Given the description of an element on the screen output the (x, y) to click on. 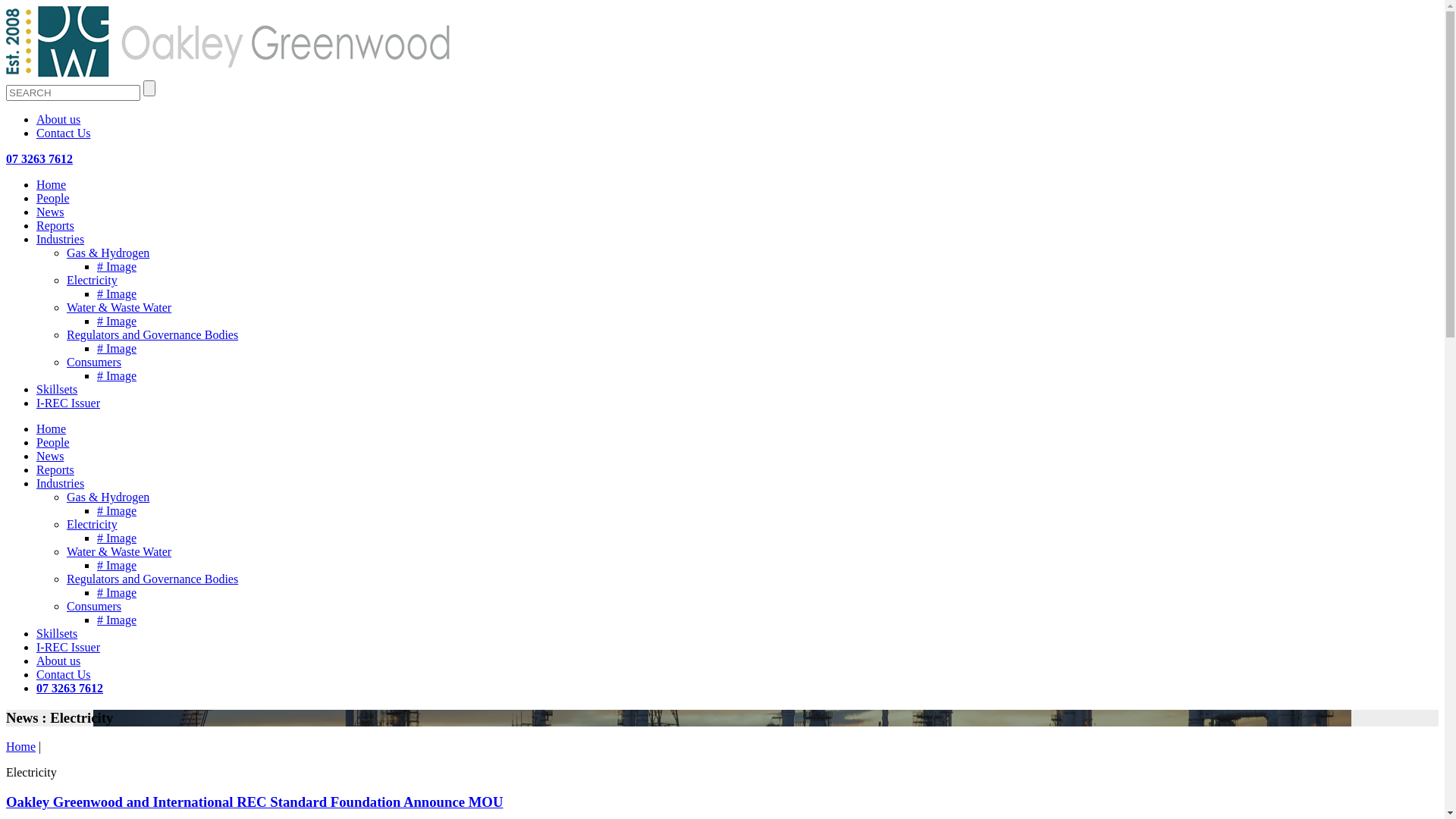
Home Element type: text (50, 184)
Skillsets Element type: text (56, 388)
# Image Element type: text (116, 375)
# Image Element type: text (116, 510)
Consumers Element type: text (93, 605)
Industries Element type: text (60, 482)
I-REC Issuer Element type: text (68, 402)
Water & Waste Water Element type: text (118, 307)
Skillsets Element type: text (56, 633)
Consumers Element type: text (93, 361)
News Element type: text (49, 455)
People Element type: text (52, 197)
Regulators and Governance Bodies Element type: text (152, 334)
# Image Element type: text (116, 619)
# Image Element type: text (116, 592)
07 3263 7612 Element type: text (39, 158)
About us Element type: text (58, 660)
Home Element type: text (50, 428)
07 3263 7612 Element type: text (69, 687)
Industries Element type: text (60, 238)
Gas & Hydrogen Element type: text (107, 496)
# Image Element type: text (116, 320)
News Element type: text (49, 211)
Contact Us Element type: text (63, 674)
# Image Element type: text (116, 293)
About us Element type: text (58, 118)
Gas & Hydrogen Element type: text (107, 252)
# Image Element type: text (116, 537)
Home Element type: text (20, 746)
Electricity Element type: text (91, 279)
Electricity Element type: text (91, 523)
Reports Element type: text (55, 469)
I-REC Issuer Element type: text (68, 646)
People Element type: text (52, 442)
# Image Element type: text (116, 564)
Water & Waste Water Element type: text (118, 551)
Regulators and Governance Bodies Element type: text (152, 578)
Reports Element type: text (55, 225)
Contact Us Element type: text (63, 132)
# Image Element type: text (116, 348)
# Image Element type: text (116, 266)
